Given the description of an element on the screen output the (x, y) to click on. 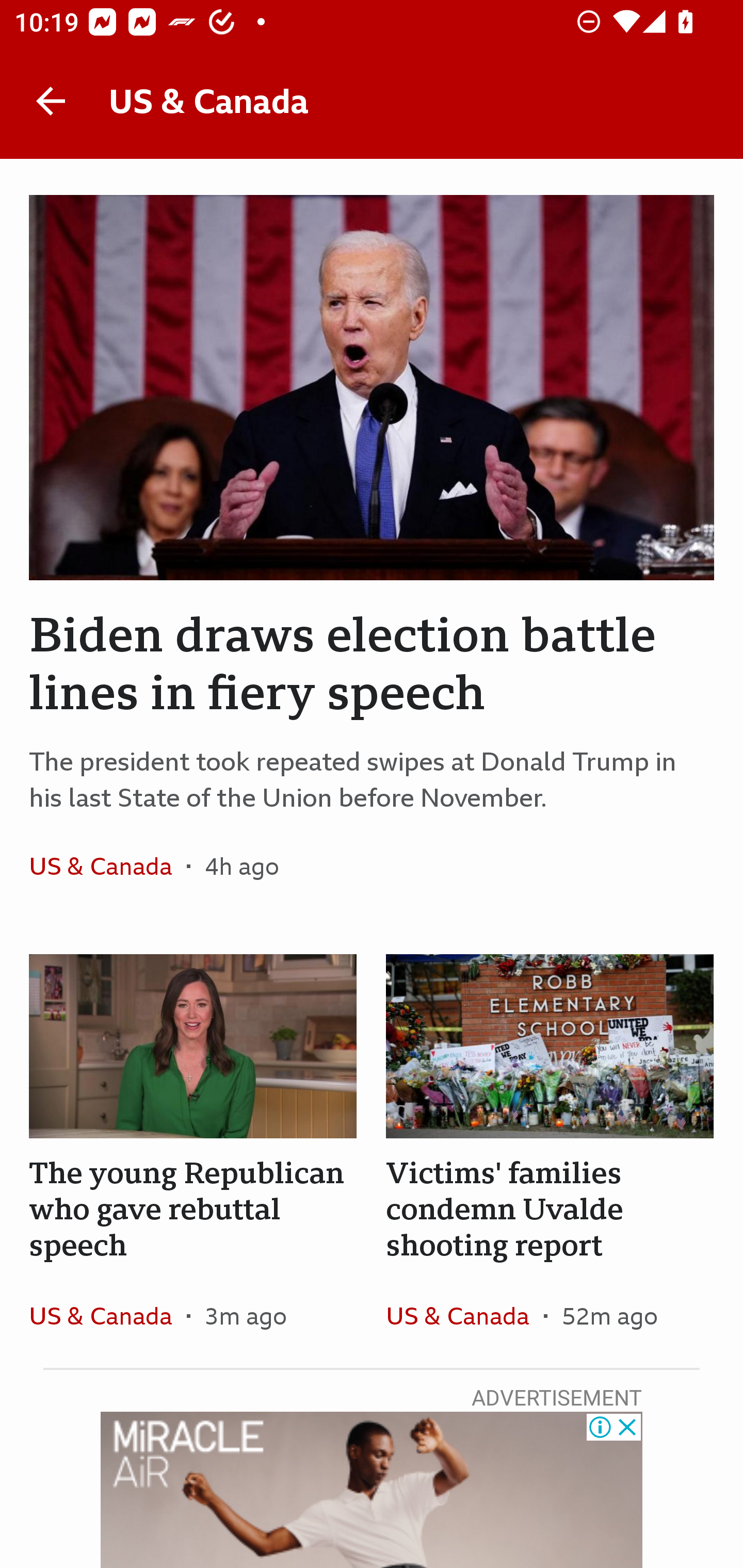
Back (50, 101)
US & Canada In the section US & Canada (107, 865)
US & Canada In the section US & Canada (107, 1315)
US & Canada In the section US & Canada (464, 1315)
Advertisement (371, 1489)
